Given the description of an element on the screen output the (x, y) to click on. 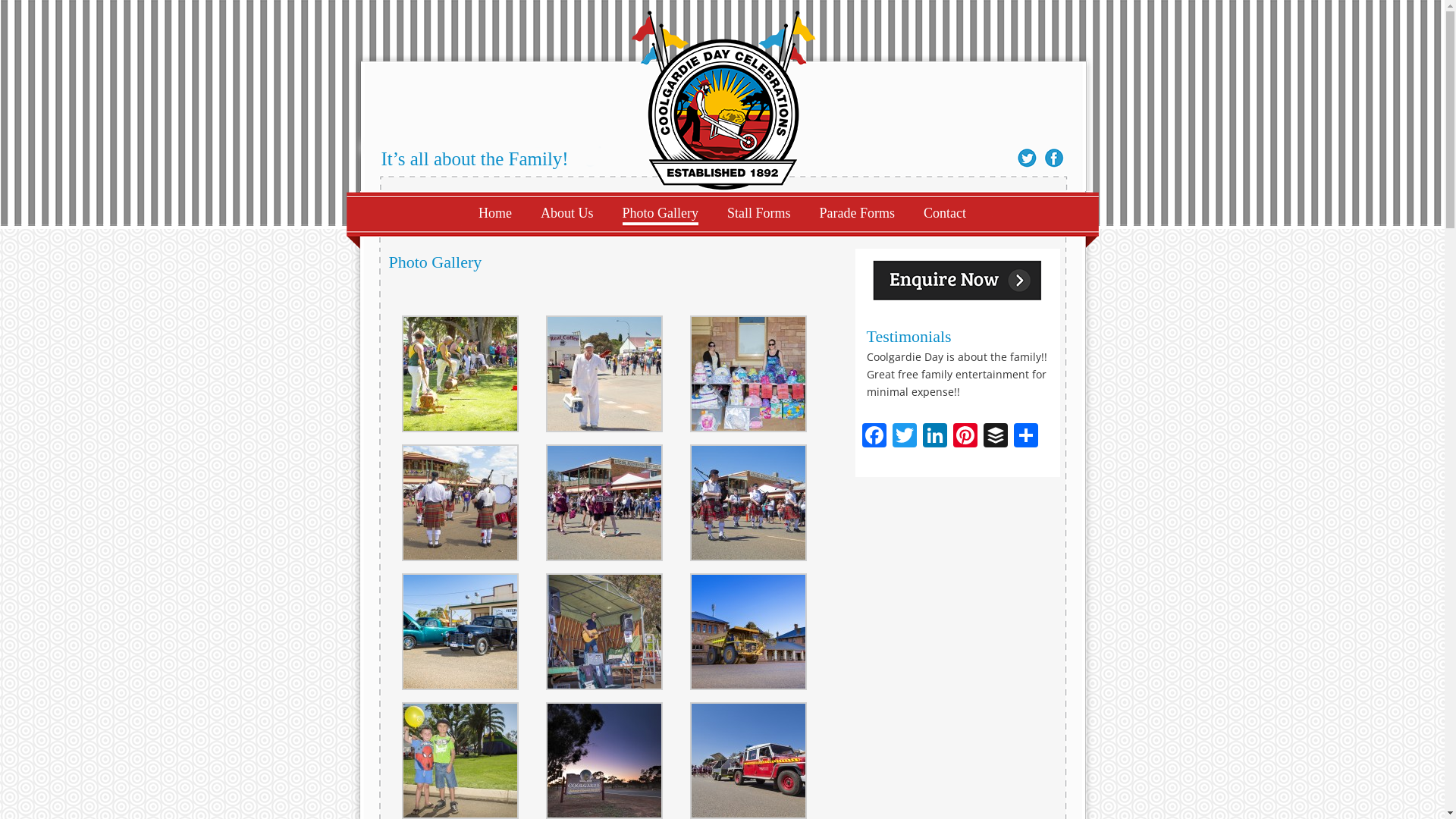
Buffer Element type: text (994, 436)
Coolgardie Day Element type: text (722, 95)
LinkedIn Element type: text (934, 436)
Parade Forms Element type: text (856, 213)
Facebook Element type: text (873, 436)
Pinterest Element type: text (964, 436)
Home Element type: text (494, 213)
Stall Forms Element type: text (758, 213)
About Us Element type: text (566, 213)
Contact Element type: text (944, 213)
Twitter Element type: text (903, 436)
Share Element type: text (1025, 436)
Photo Gallery Element type: text (659, 213)
